Given the description of an element on the screen output the (x, y) to click on. 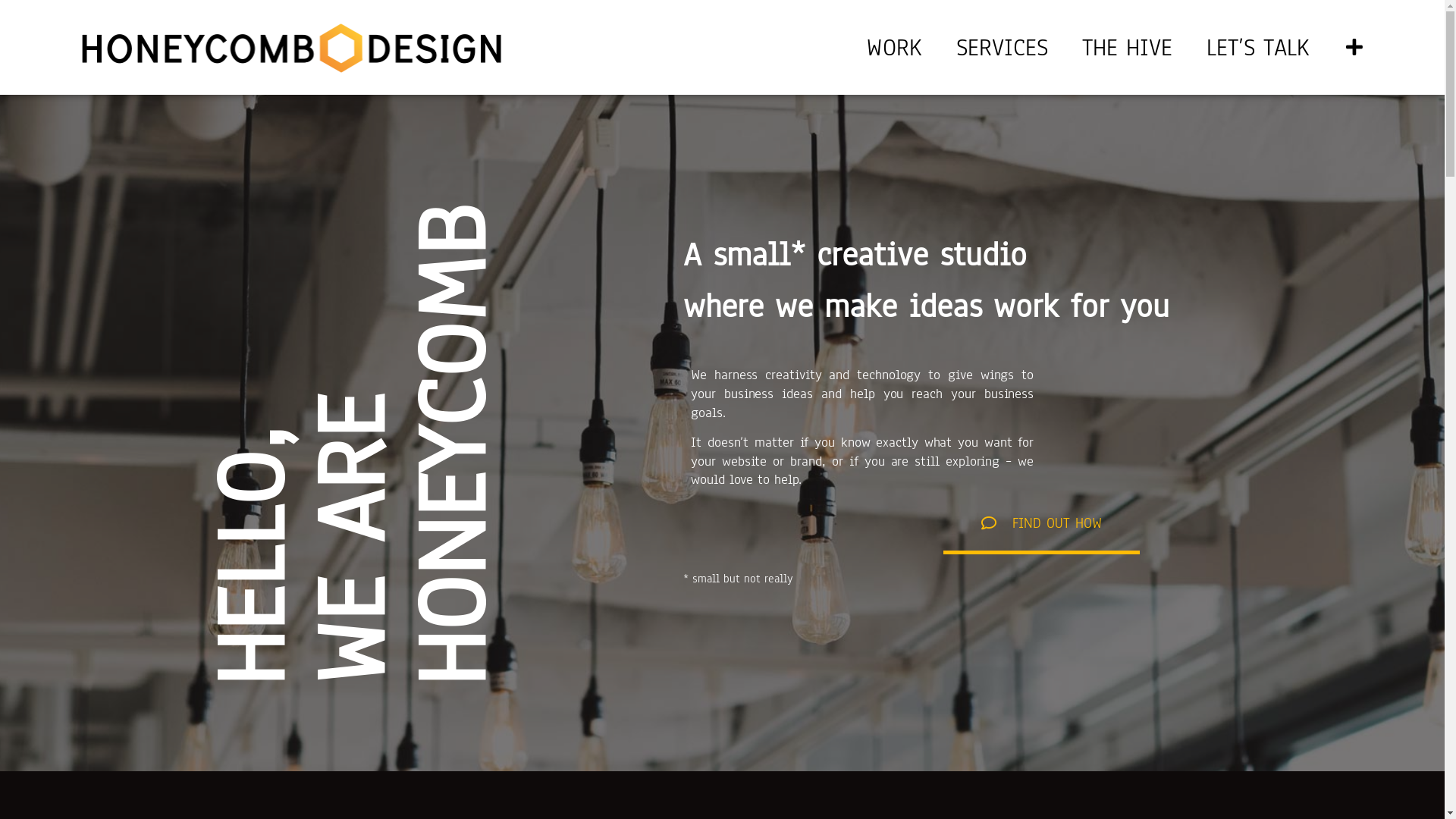
SERVICES Element type: text (1002, 47)
WORK Element type: text (893, 47)
FIND OUT HOW Element type: text (1041, 525)
THE HIVE Element type: text (1126, 47)
